Given the description of an element on the screen output the (x, y) to click on. 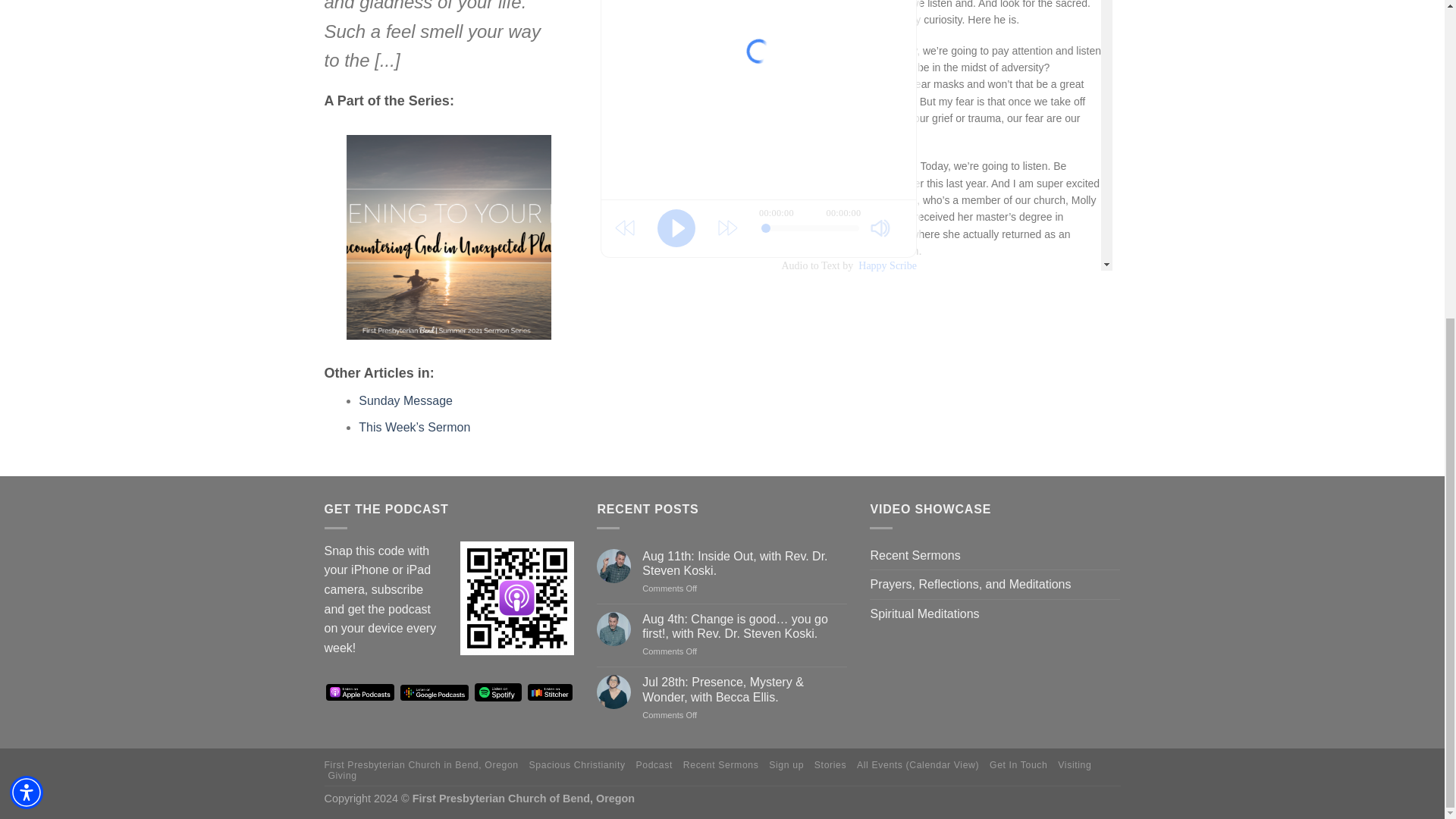
0 (810, 227)
Accessibility Menu (26, 277)
Aug 11th: Inside Out, with Rev. Dr. Steven Koski. (744, 563)
